Given the description of an element on the screen output the (x, y) to click on. 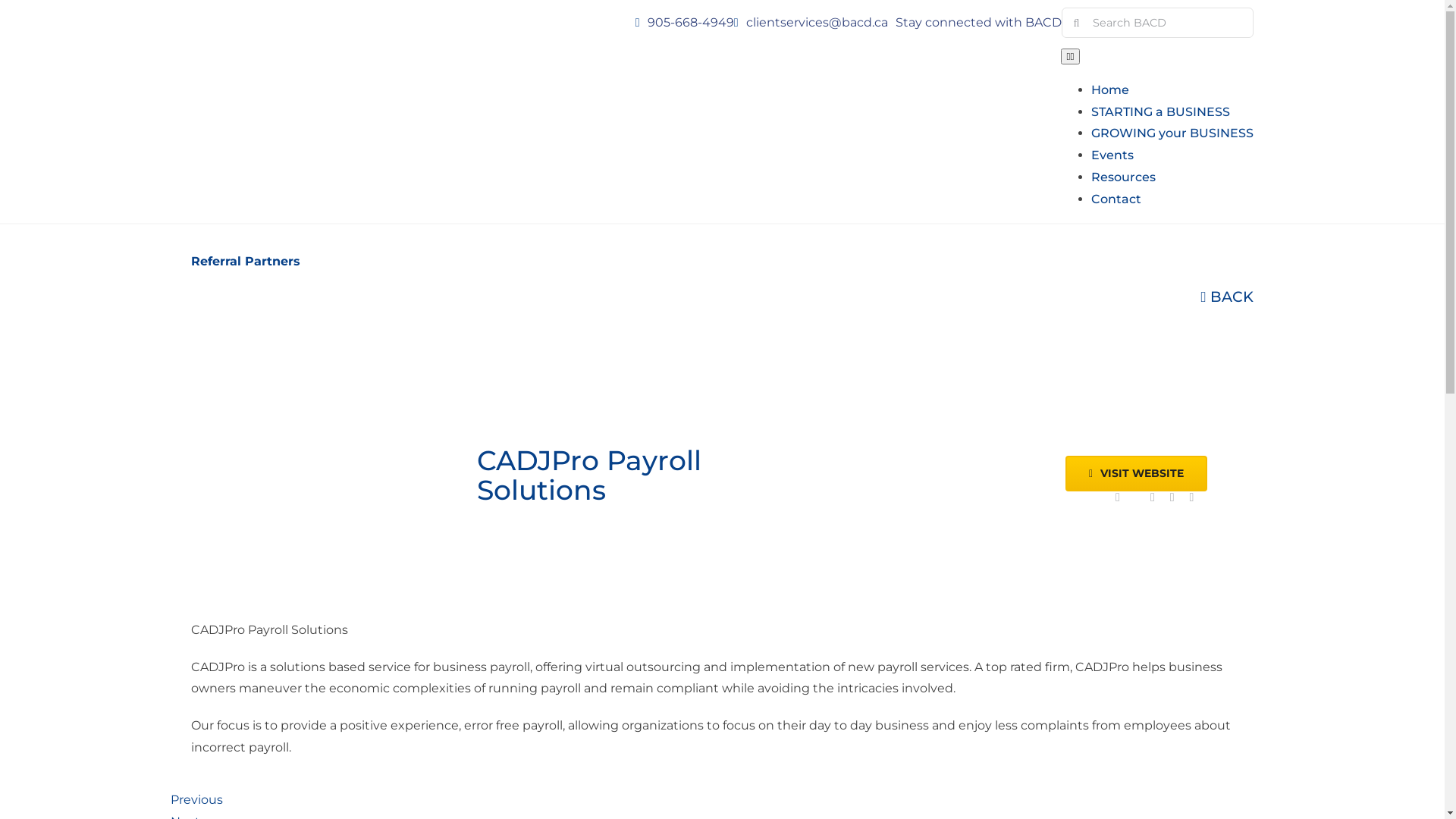
cadjpropayroll LOGO Element type: hover (317, 487)
Garcia-Hanson-Francis-cadjpro ceo pic Element type: hover (961, 487)
Events Element type: text (1112, 154)
Contact Element type: text (1116, 198)
Email Element type: hover (1172, 497)
LinkedIn Element type: hover (1152, 497)
Facebook Element type: hover (1117, 497)
STARTING a BUSINESS Element type: text (1160, 111)
BACK Element type: text (1227, 296)
Stay connected with BACD Element type: text (978, 22)
Previous Element type: text (195, 799)
VISIT WEBSITE Element type: text (1136, 473)
clientservices@bacd.ca Element type: text (817, 22)
GROWING your BUSINESS Element type: text (1172, 132)
Resources Element type: text (1123, 176)
Phone Element type: hover (1191, 497)
Home Element type: text (1110, 89)
Toggle Navigation Element type: text (1070, 56)
905-668-4949 Element type: text (690, 22)
